Given the description of an element on the screen output the (x, y) to click on. 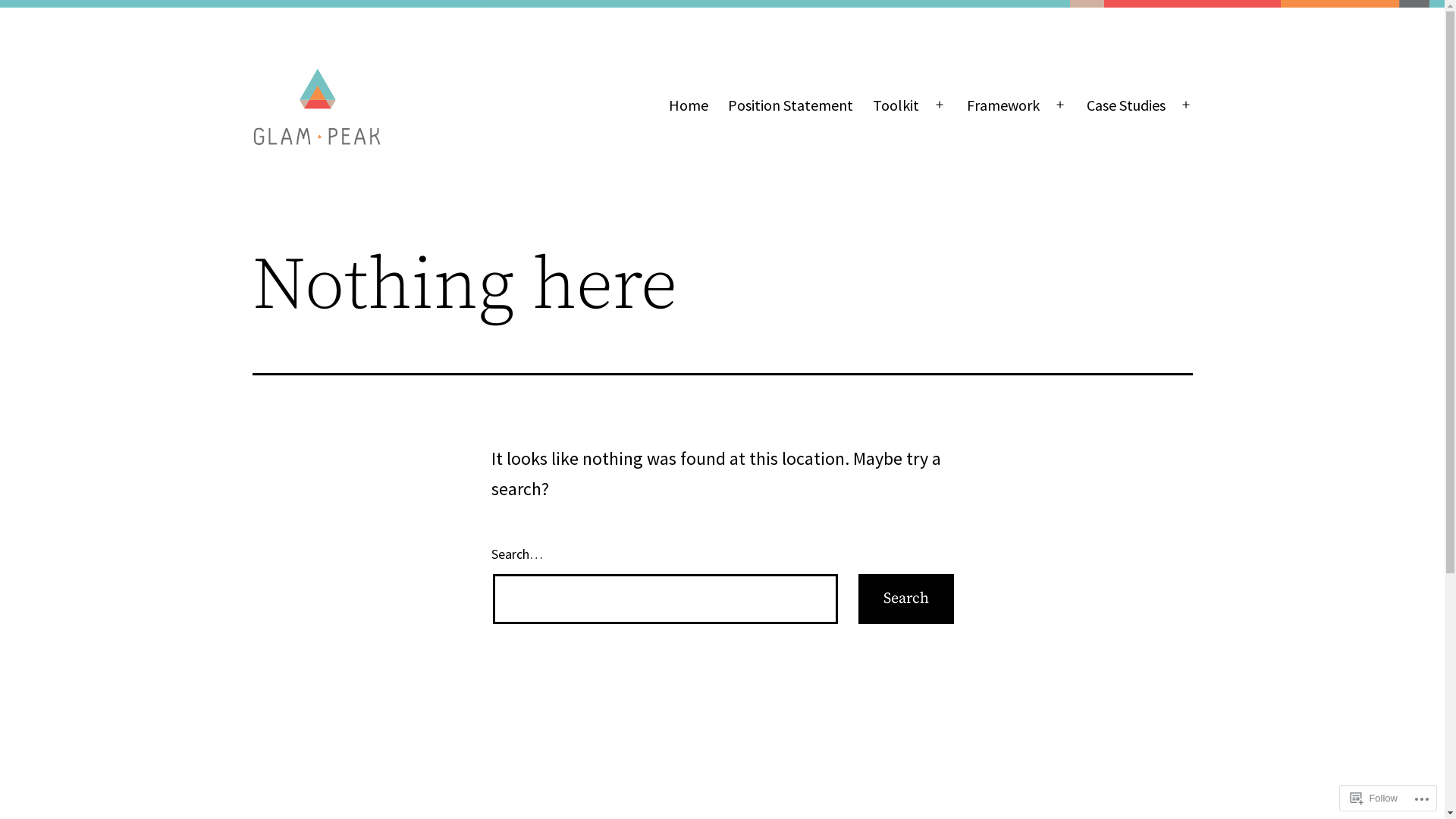
Toolkit Element type: text (895, 105)
Follow Element type: text (1373, 797)
Framework Element type: text (1002, 105)
Search Element type: text (905, 599)
Case Studies Element type: text (1125, 105)
Position Statement Element type: text (790, 105)
Home Element type: text (687, 105)
